Given the description of an element on the screen output the (x, y) to click on. 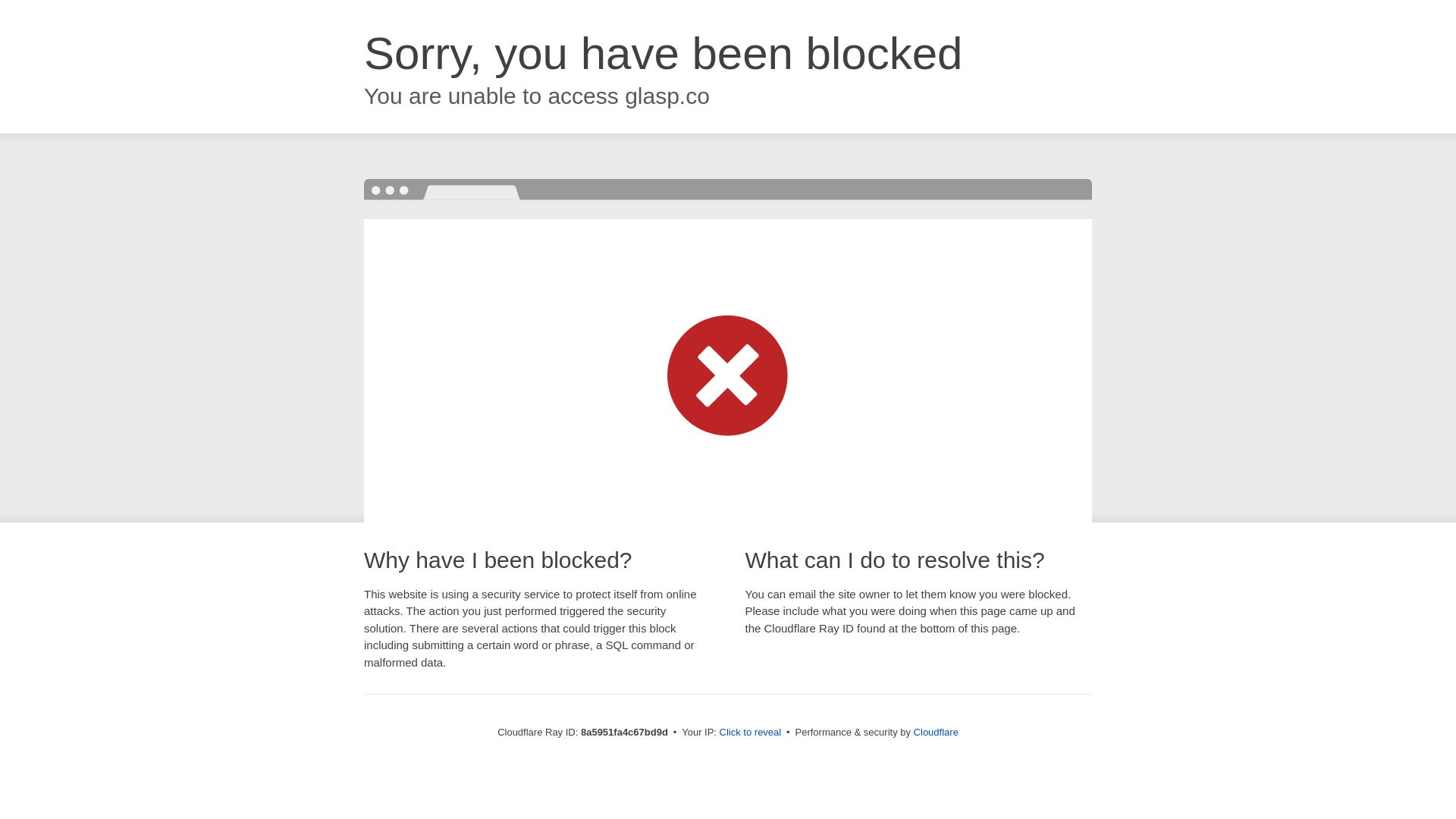
Cloudflare (936, 731)
Click to reveal (750, 732)
